Given the description of an element on the screen output the (x, y) to click on. 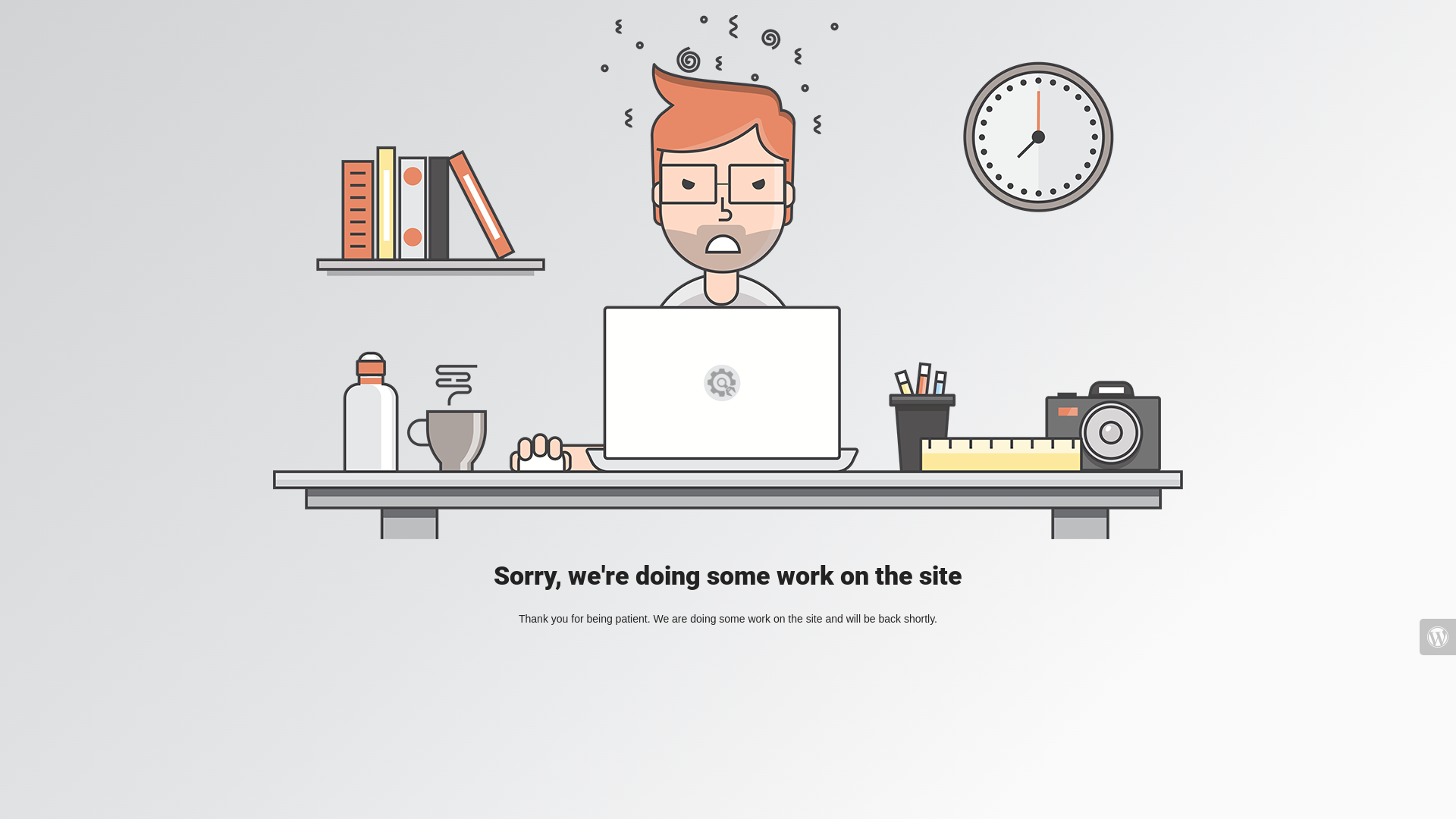
Mad Designer at work Element type: hover (728, 277)
